Given the description of an element on the screen output the (x, y) to click on. 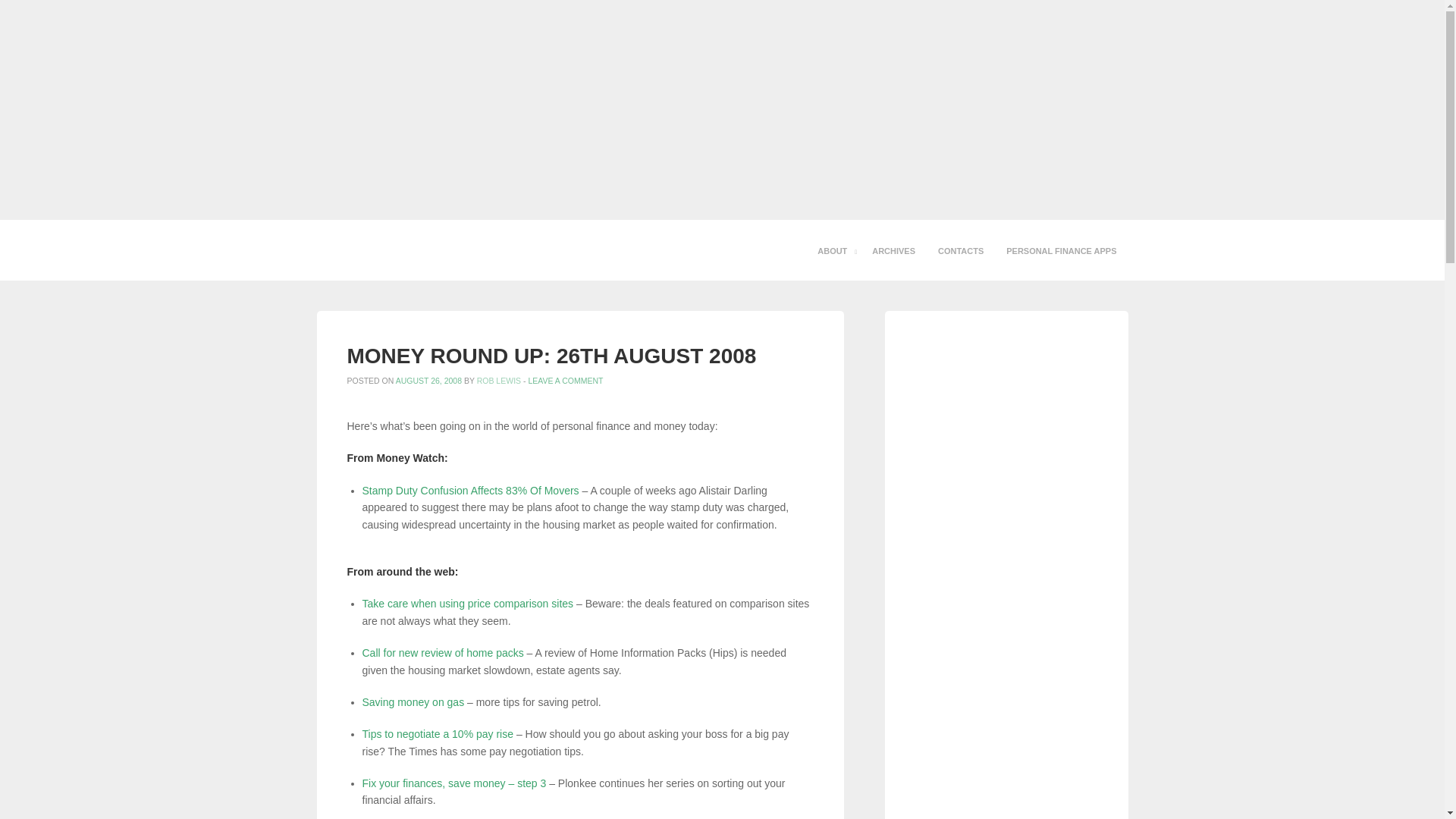
Search (24, 13)
ROB LEWIS (499, 379)
AUGUST 26, 2008 (428, 379)
PERSONAL FINANCE APPS (1060, 250)
Take care when using price comparison sites (467, 603)
Saving money on gas (413, 702)
Call for new review of home packs (443, 653)
ARCHIVES (893, 250)
LEAVE A COMMENT (564, 379)
CONTACTS (960, 250)
